Given the description of an element on the screen output the (x, y) to click on. 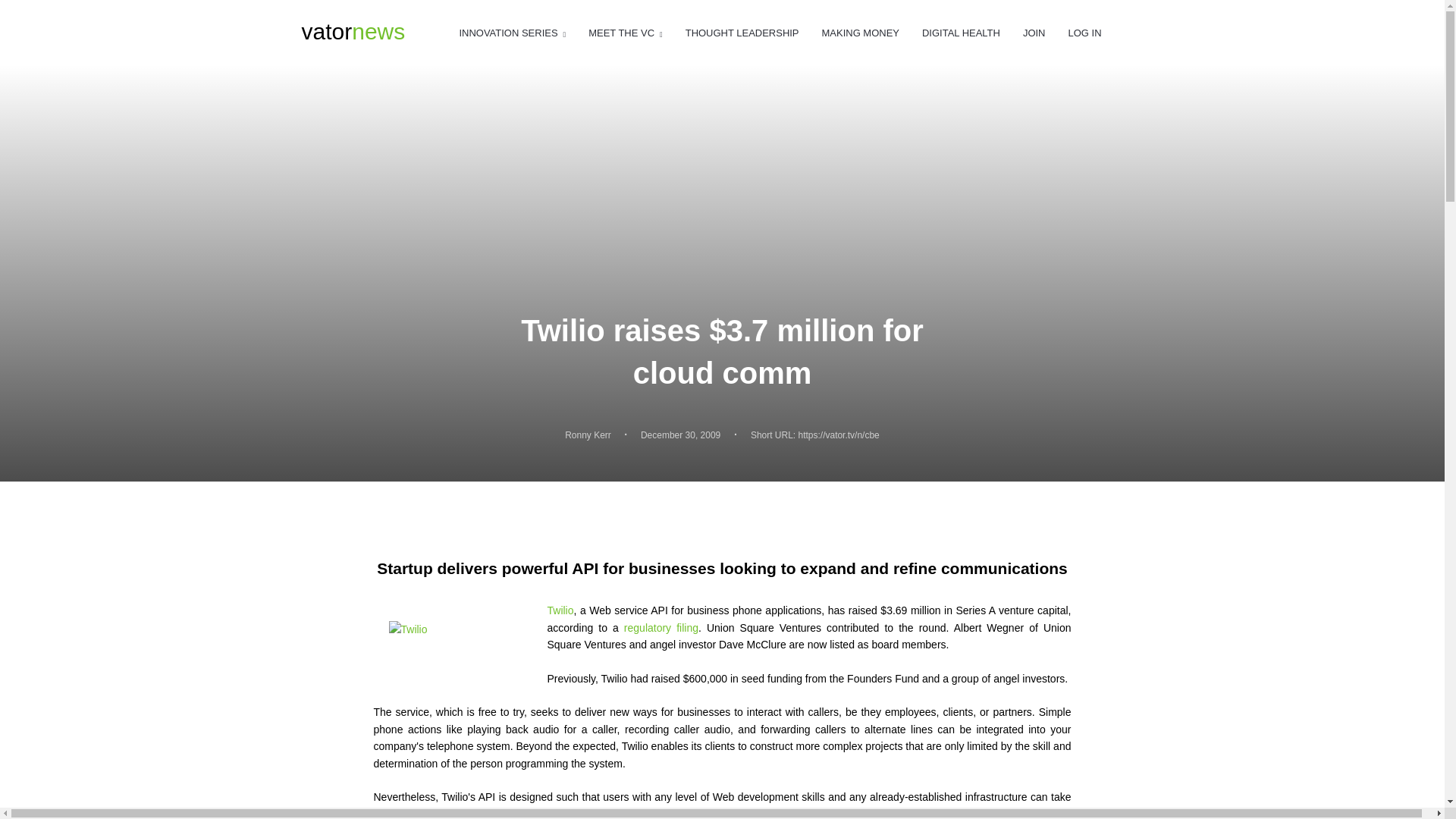
DIGITAL HEALTH (960, 33)
Twilio (560, 610)
Twilio (353, 32)
INNOVATION SERIES (459, 646)
THOUGHT LEADERSHIP (512, 33)
Ronny Kerr (742, 33)
MEET THE VC (587, 434)
LOG IN (625, 33)
regulatory filing (1083, 33)
